Given the description of an element on the screen output the (x, y) to click on. 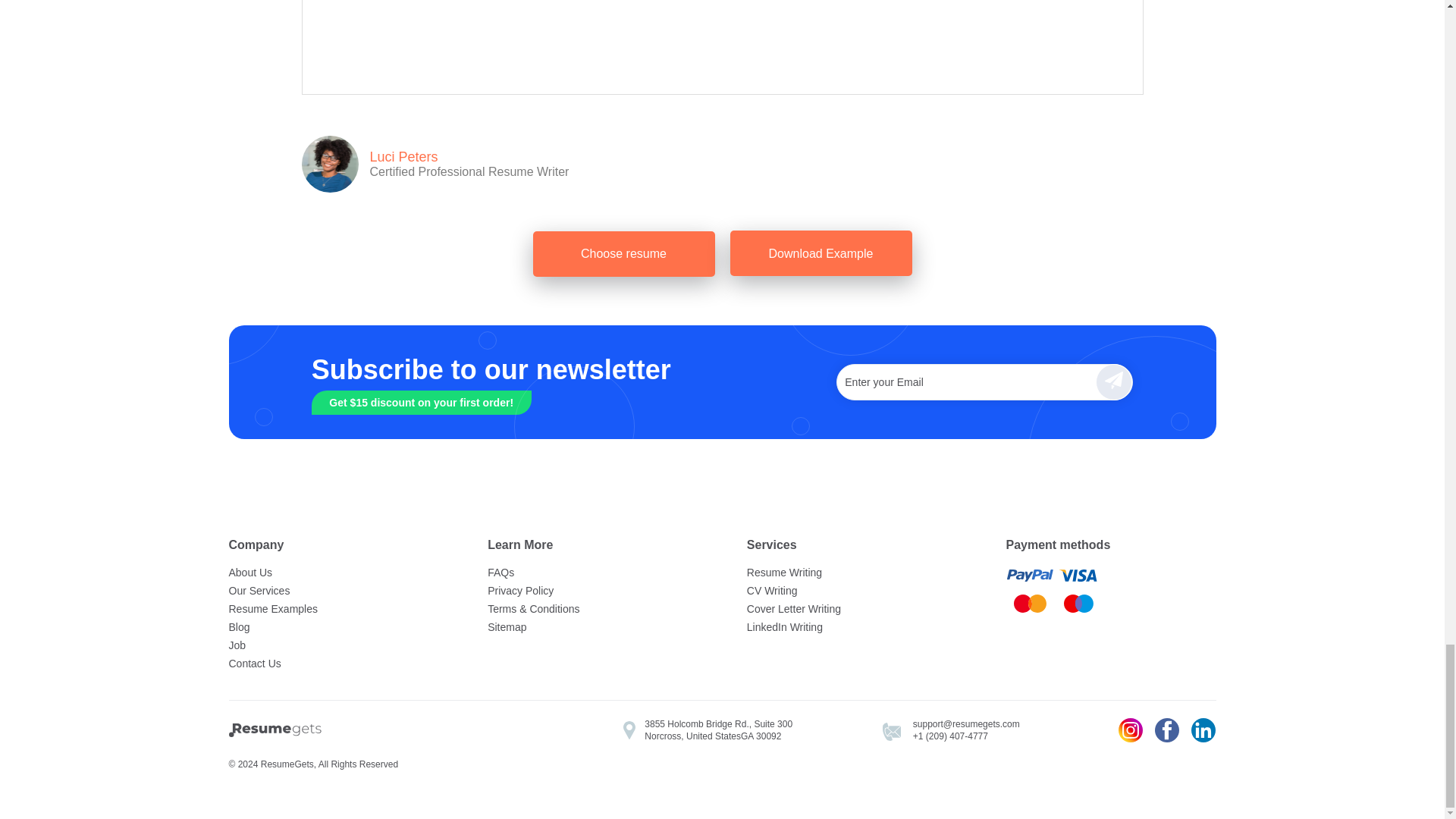
Choose resume (623, 253)
Contact Us (333, 663)
Resume Writing (851, 572)
Download Example (820, 253)
DMCA.com Protection Status (388, 731)
Luci Peters (469, 157)
CV Writing (851, 590)
Privacy Policy (592, 590)
Our Services (333, 590)
Blog (333, 627)
Resume Examples (333, 608)
Sitemap (592, 627)
LinkedIn Writing (851, 627)
About Us (333, 572)
Job (333, 645)
